Given the description of an element on the screen output the (x, y) to click on. 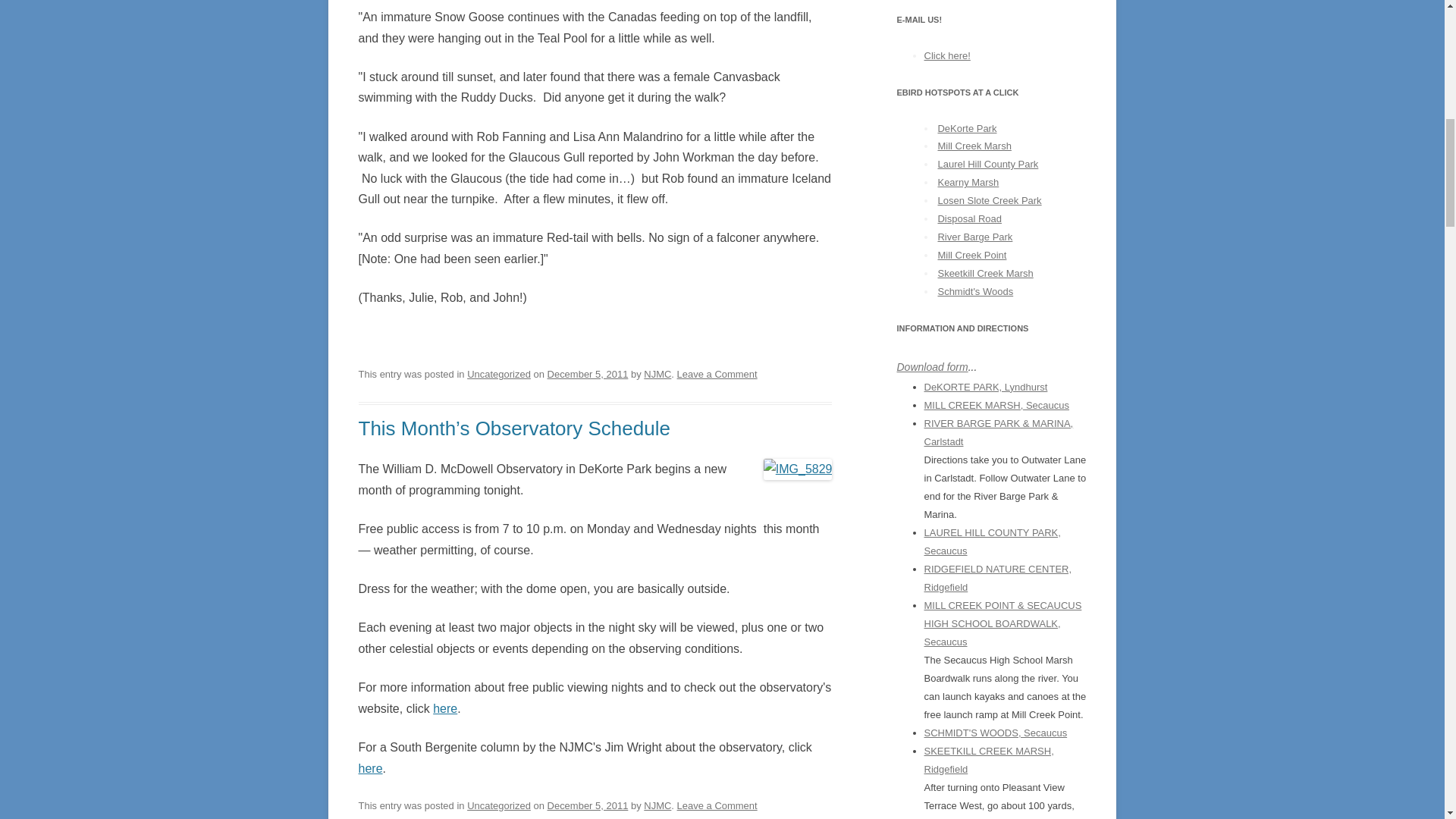
Uncategorized (499, 374)
December 5, 2011 (587, 374)
Click here! (946, 55)
Mill Creek Point (971, 255)
Skeetkill Creek Marsh (984, 273)
Uncategorized (499, 805)
MILL CREEK MARSH, Secaucus (995, 405)
Kearny Marsh (967, 182)
DeKORTE PARK, Lyndhurst (984, 387)
here (444, 707)
